Given the description of an element on the screen output the (x, y) to click on. 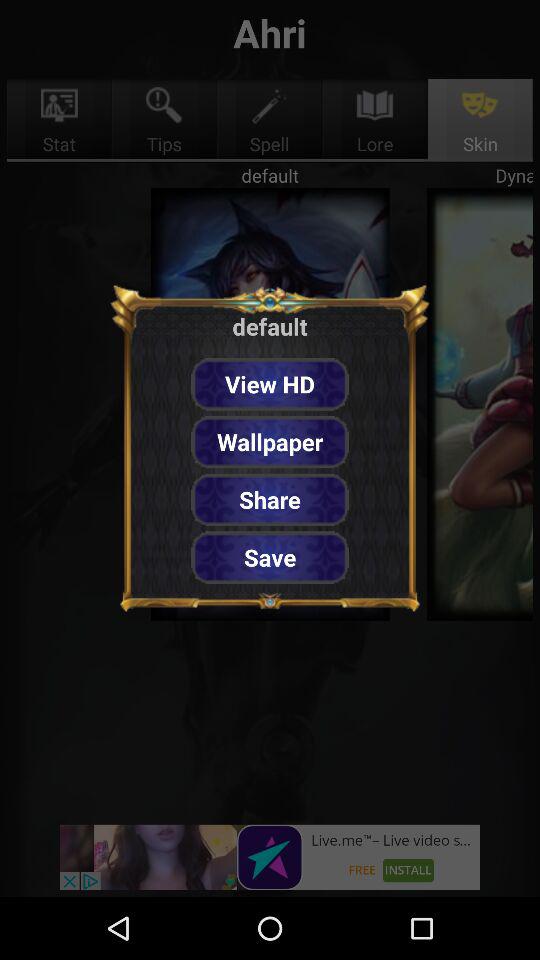
flip to the save item (269, 557)
